Given the description of an element on the screen output the (x, y) to click on. 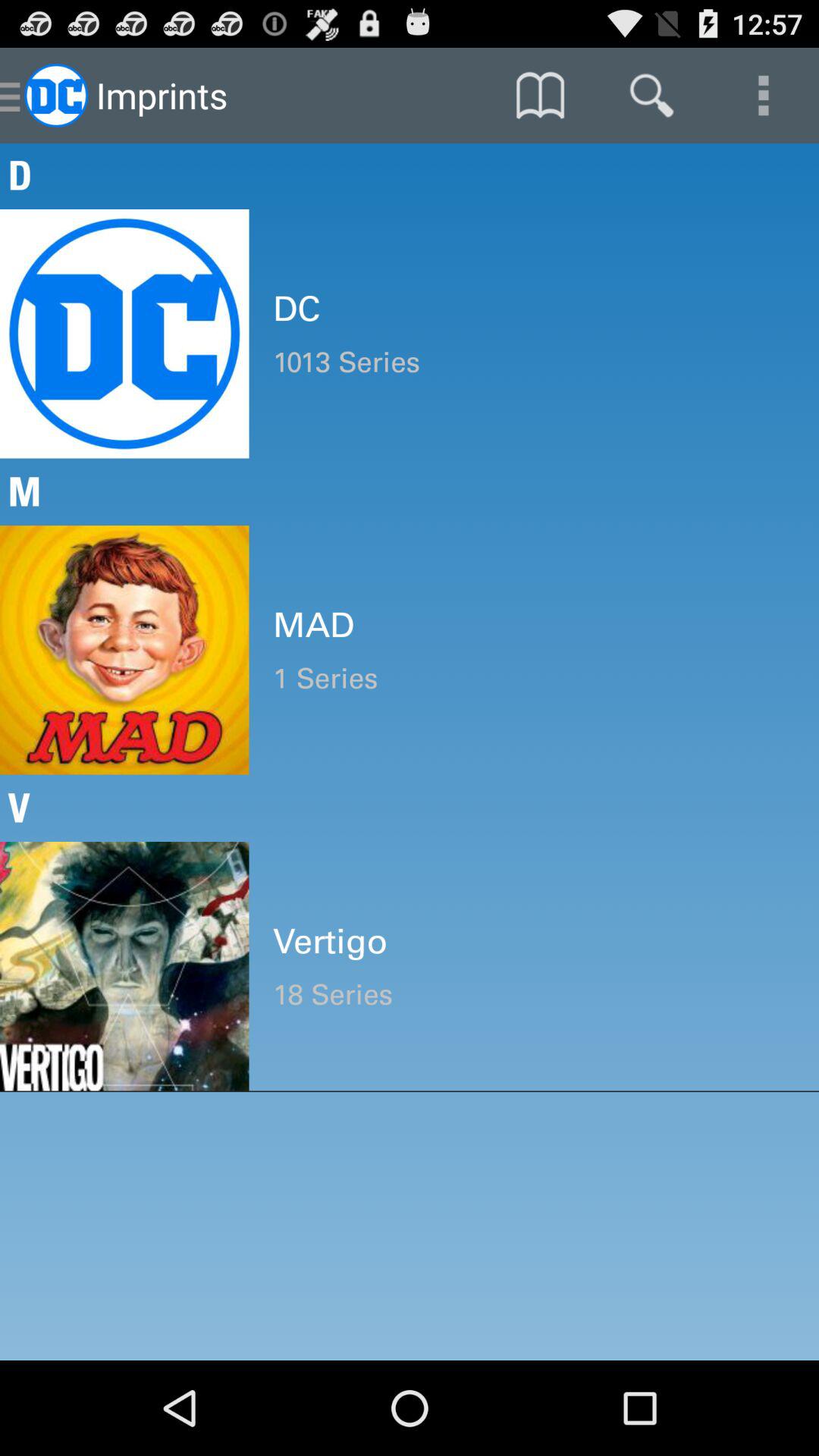
launch icon above the 1013 series item (534, 308)
